Given the description of an element on the screen output the (x, y) to click on. 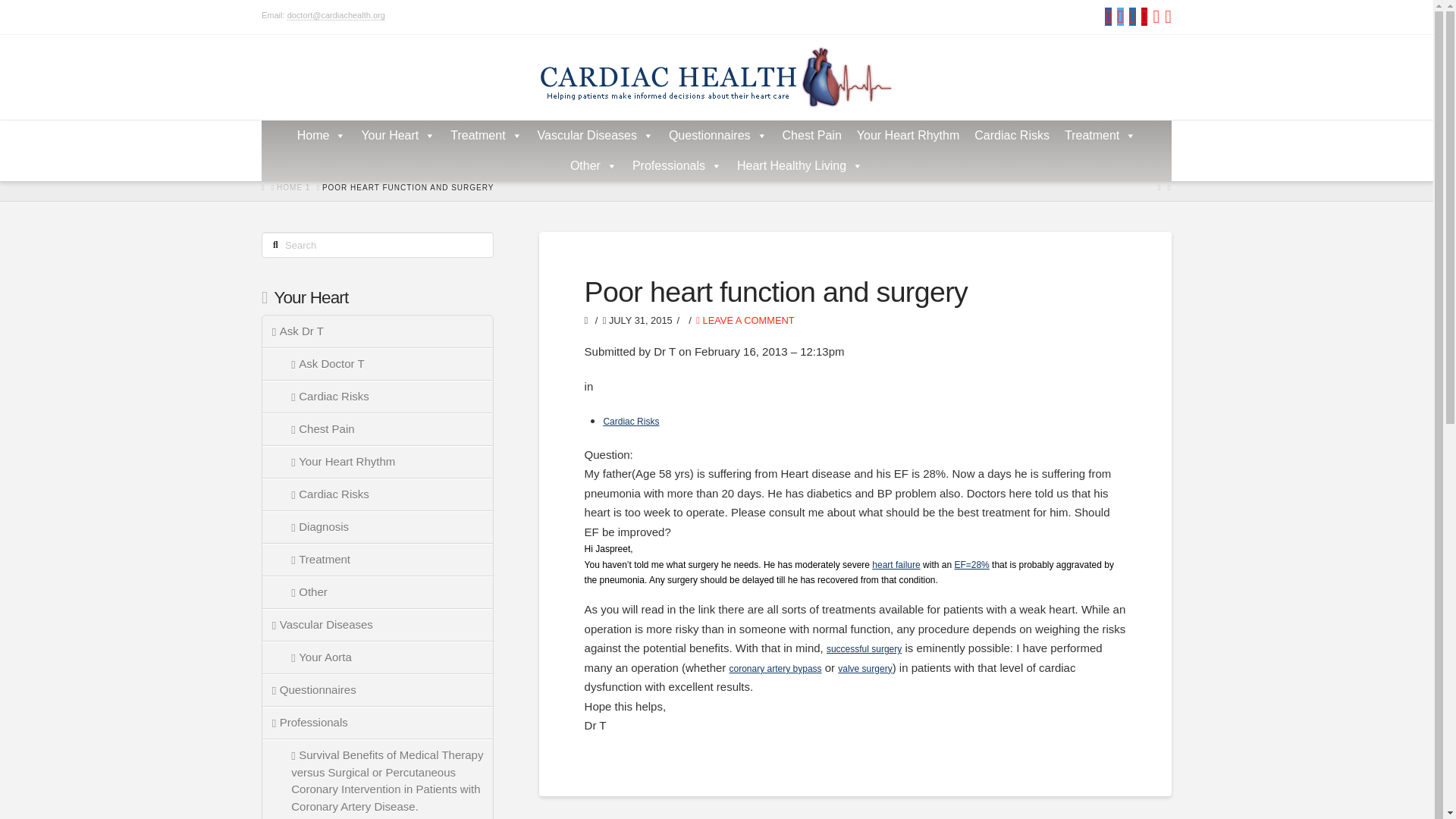
You Are Here (408, 186)
Home (321, 135)
Your Heart (397, 135)
